Given the description of an element on the screen output the (x, y) to click on. 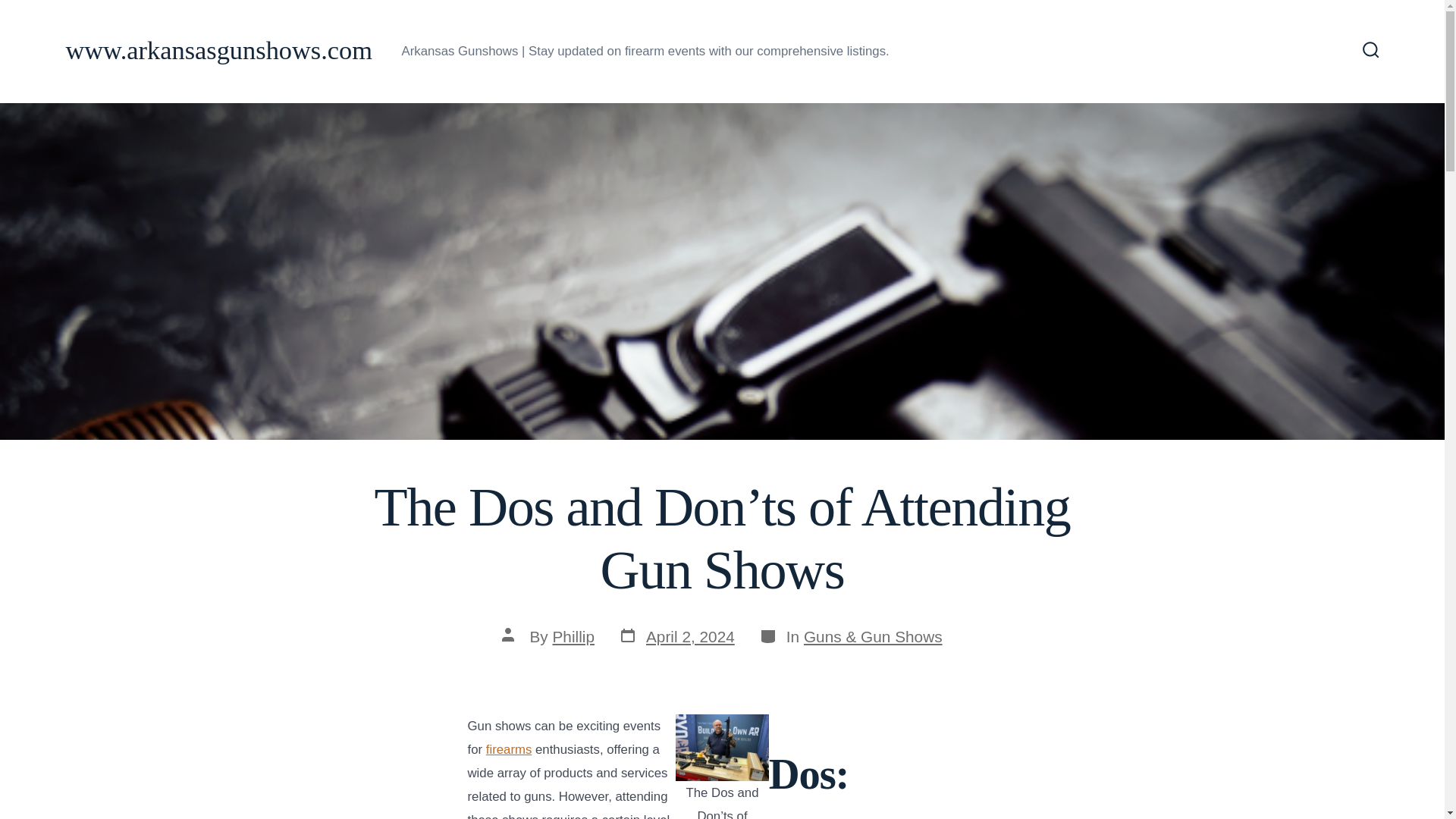
Phillip (572, 636)
www.arkansasgunshows.com (218, 51)
firearms (509, 749)
Search Toggle (1371, 50)
